Given the description of an element on the screen output the (x, y) to click on. 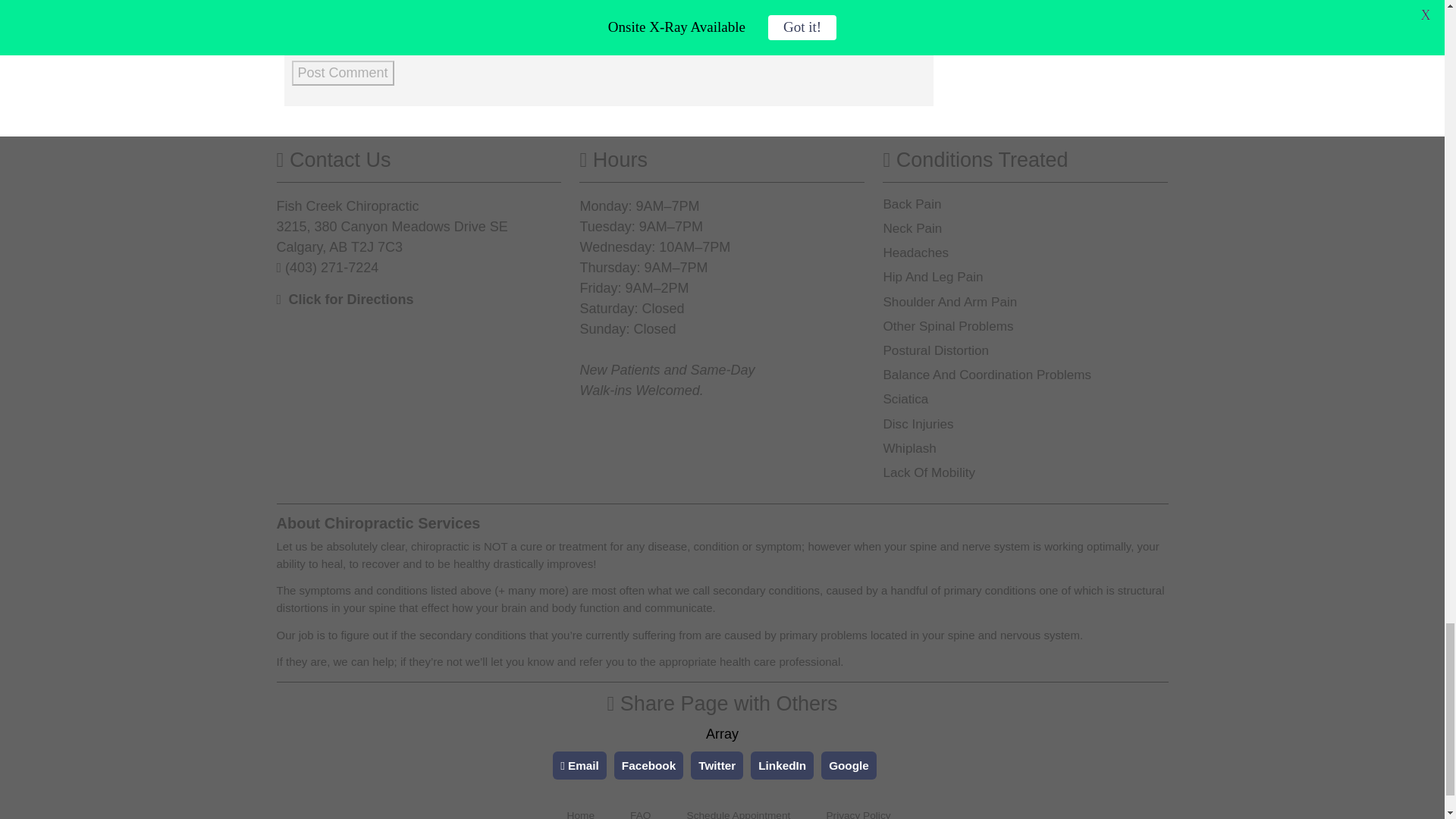
yes (296, 35)
Post Comment (342, 72)
